Given the description of an element on the screen output the (x, y) to click on. 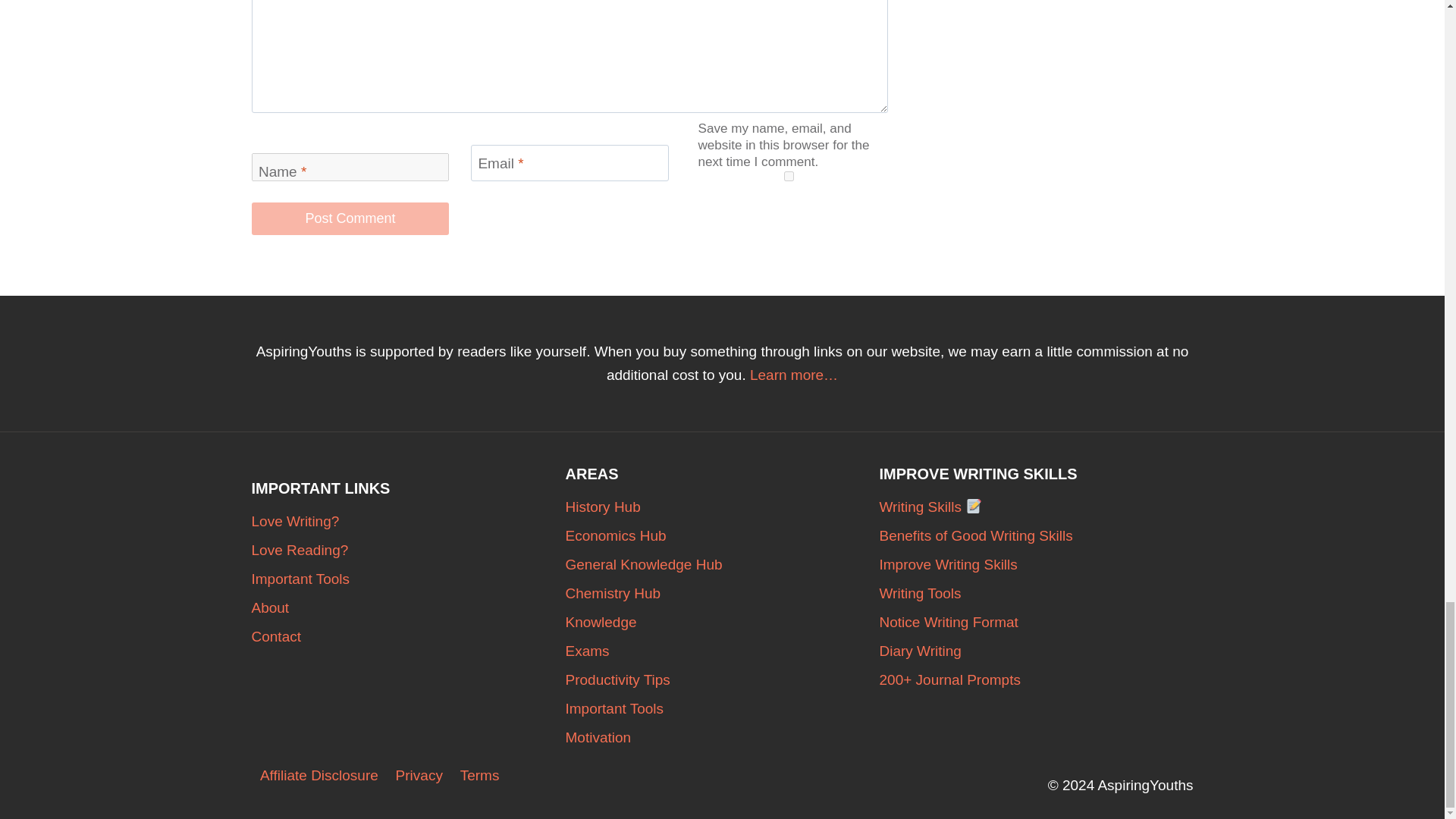
Contact (408, 636)
Important Tools (408, 579)
Economics Hub (722, 535)
Knowledge (722, 622)
General Knowledge Hub (722, 564)
Love Writing? (408, 521)
yes (789, 175)
History Hub (722, 507)
Post Comment (350, 218)
Love Reading? (408, 550)
Chemistry Hub (722, 593)
Post Comment (350, 218)
About (408, 607)
Exams (722, 651)
